Given the description of an element on the screen output the (x, y) to click on. 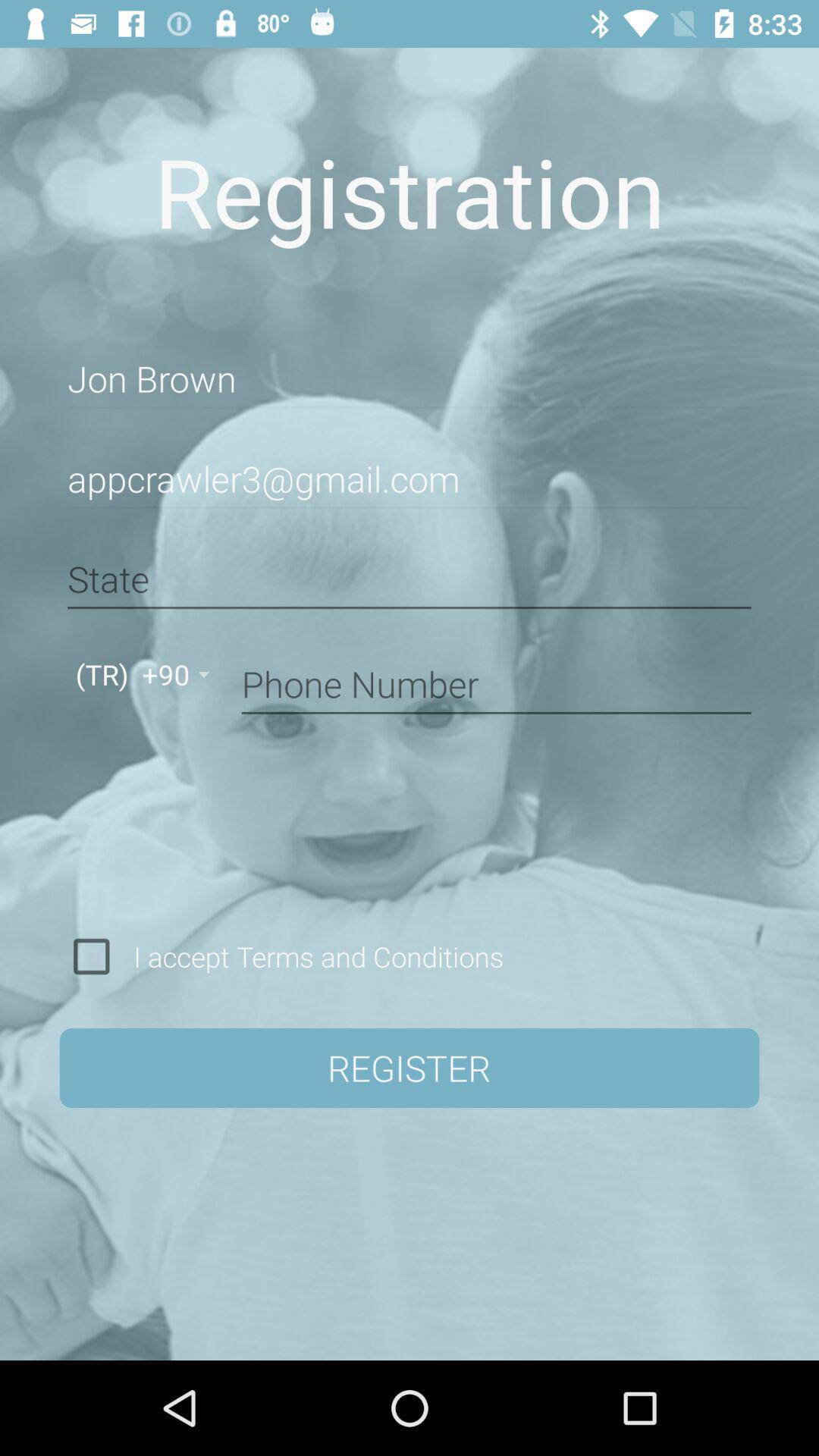
enter phone number (496, 681)
